Given the description of an element on the screen output the (x, y) to click on. 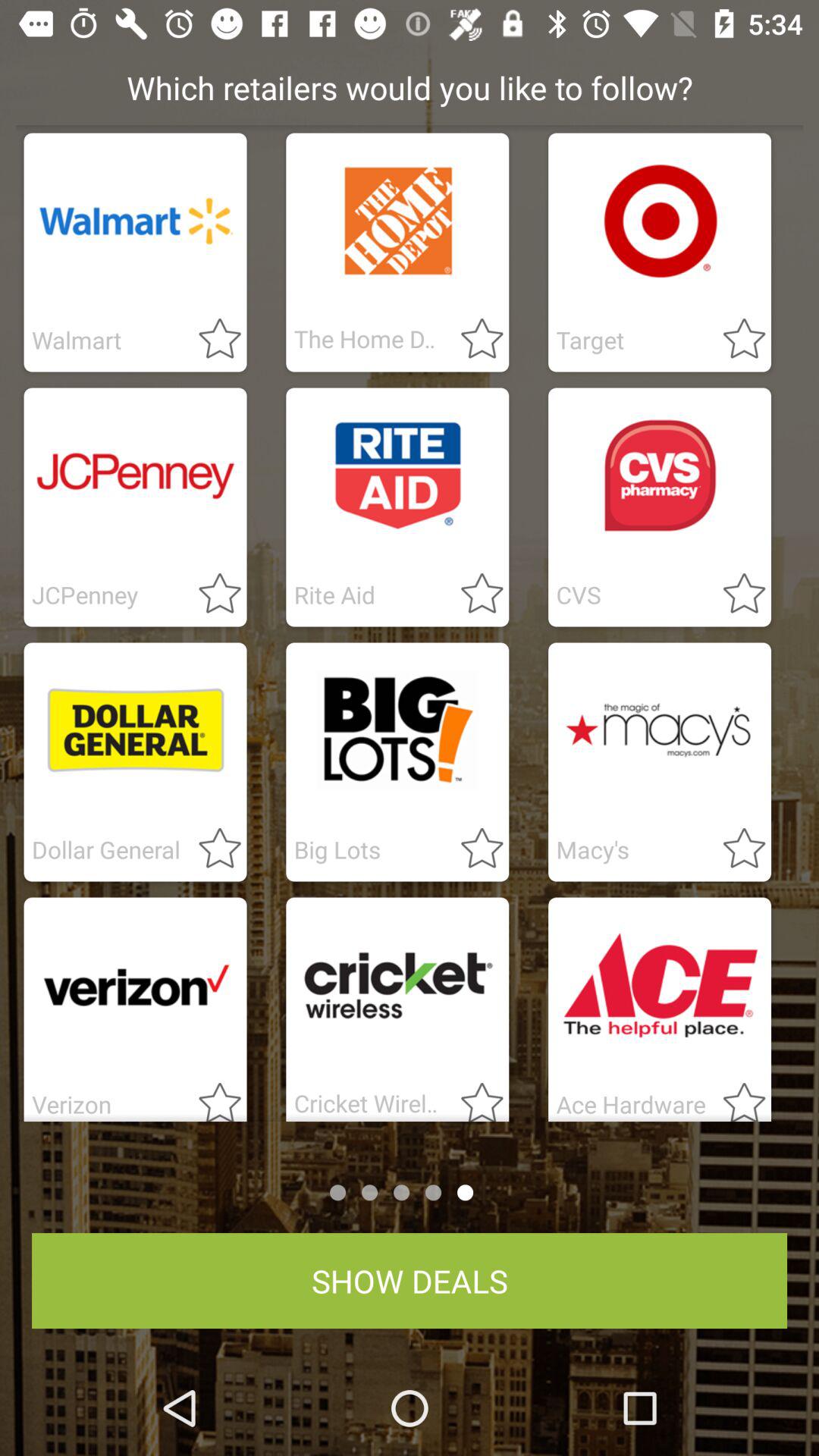
follow a retailer (473, 1096)
